Given the description of an element on the screen output the (x, y) to click on. 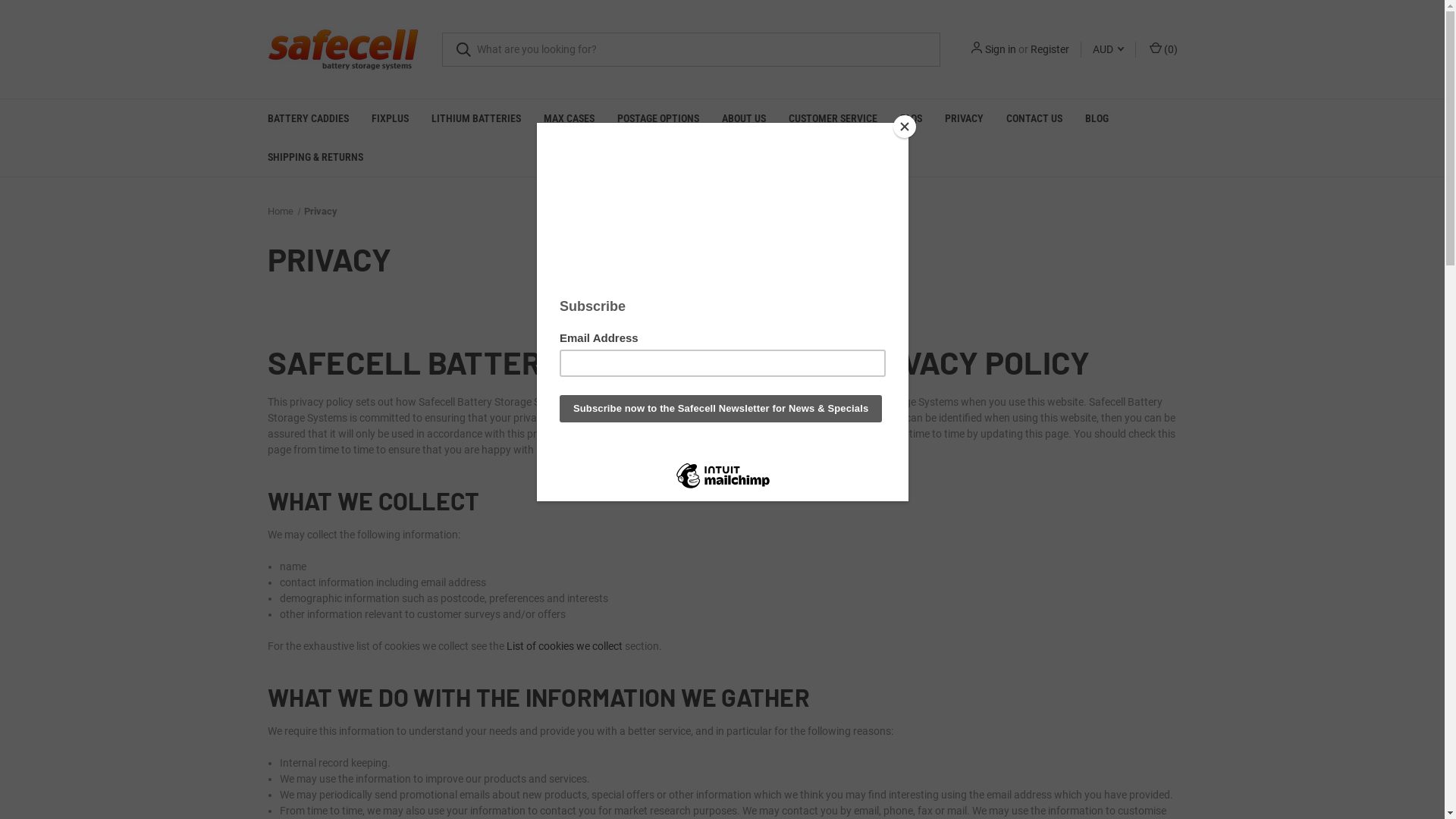
Safecell Battery Storage Systems Element type: hover (342, 49)
POSTAGE OPTIONS Element type: text (657, 118)
LITHIUM BATTERIES Element type: text (476, 118)
Home Element type: text (279, 210)
PRIVACY Element type: text (963, 118)
Register Element type: text (1048, 48)
SHIPPING & RETURNS Element type: text (315, 157)
BLOG Element type: text (1096, 118)
(0) Element type: text (1161, 48)
AUD Element type: text (1108, 48)
FAQS Element type: text (910, 118)
ABOUT US Element type: text (742, 118)
Sign in Element type: text (999, 48)
List of cookies we collect Element type: text (564, 646)
CUSTOMER SERVICE Element type: text (832, 118)
MAX CASES Element type: text (568, 118)
BATTERY CADDIES Element type: text (308, 118)
FIXPLUS Element type: text (389, 118)
CONTACT US Element type: text (1033, 118)
Privacy Element type: text (320, 210)
